Given the description of an element on the screen output the (x, y) to click on. 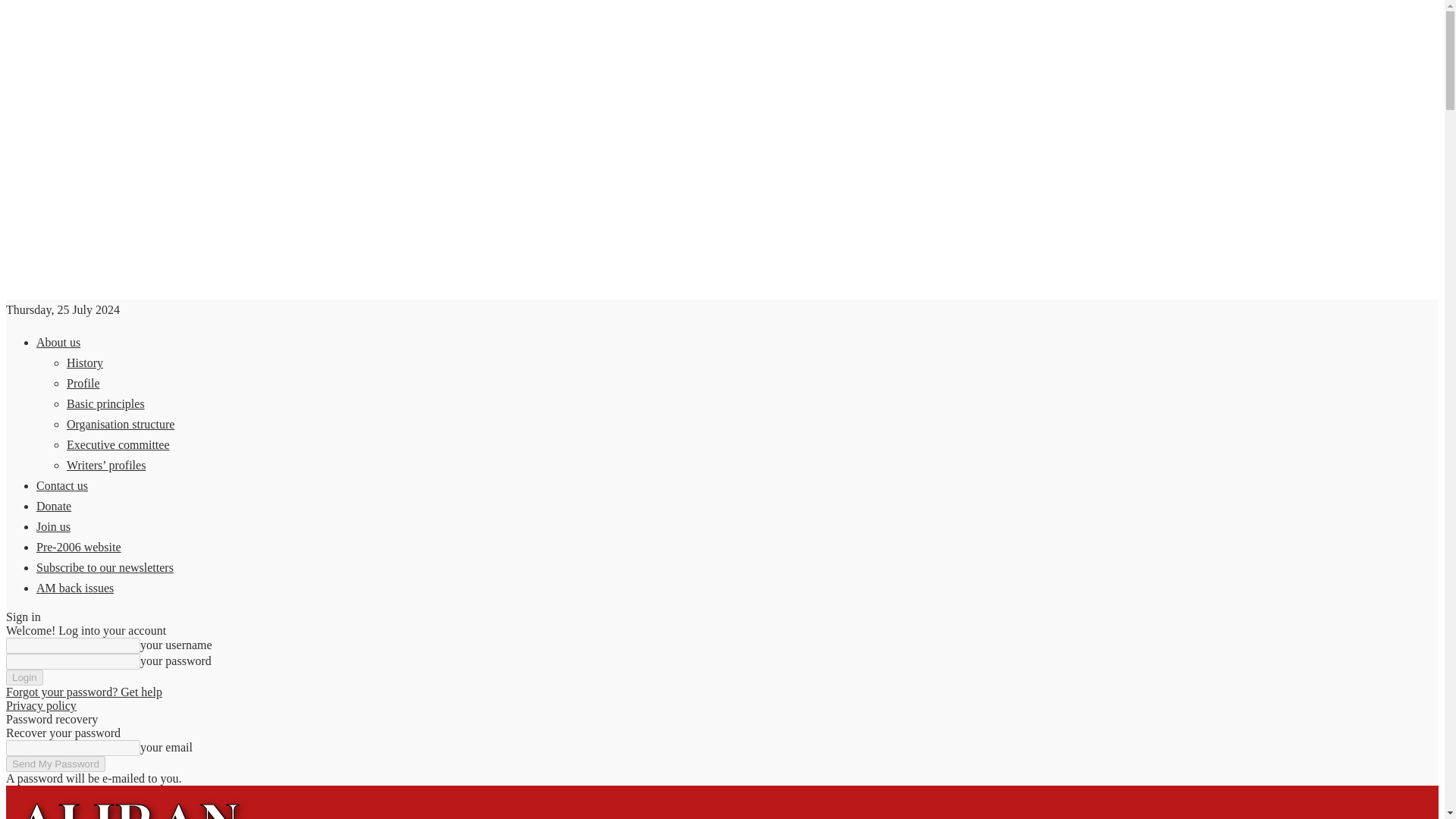
Executive committee (118, 444)
Contact us (61, 485)
Join us (52, 526)
Login (24, 677)
Basic principles (105, 403)
Donate (53, 505)
Organisation structure (120, 423)
AM back issues (74, 587)
Send My Password (54, 763)
Subscribe to our newsletters (104, 567)
Profile (83, 382)
About us (58, 341)
Pre-2006 website (78, 546)
History (84, 362)
